Given the description of an element on the screen output the (x, y) to click on. 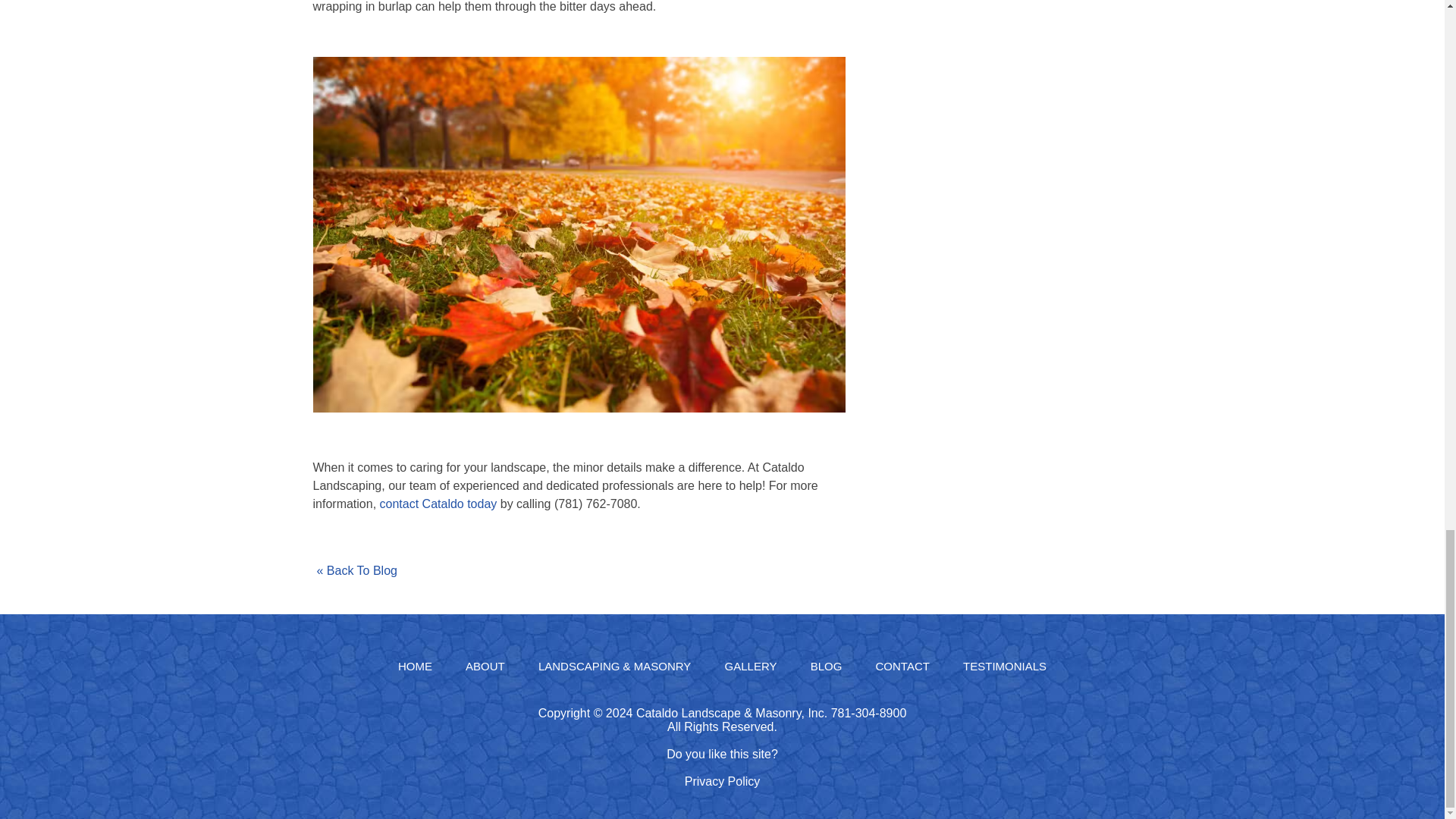
contact Cataldo today (440, 503)
Do you like this site? (721, 753)
HOME (414, 666)
BLOG (826, 666)
CONTACT (903, 666)
Privacy Policy (722, 780)
ABOUT (485, 666)
GALLERY (751, 666)
TESTIMONIALS (1004, 666)
Privacy Policy (722, 780)
